Given the description of an element on the screen output the (x, y) to click on. 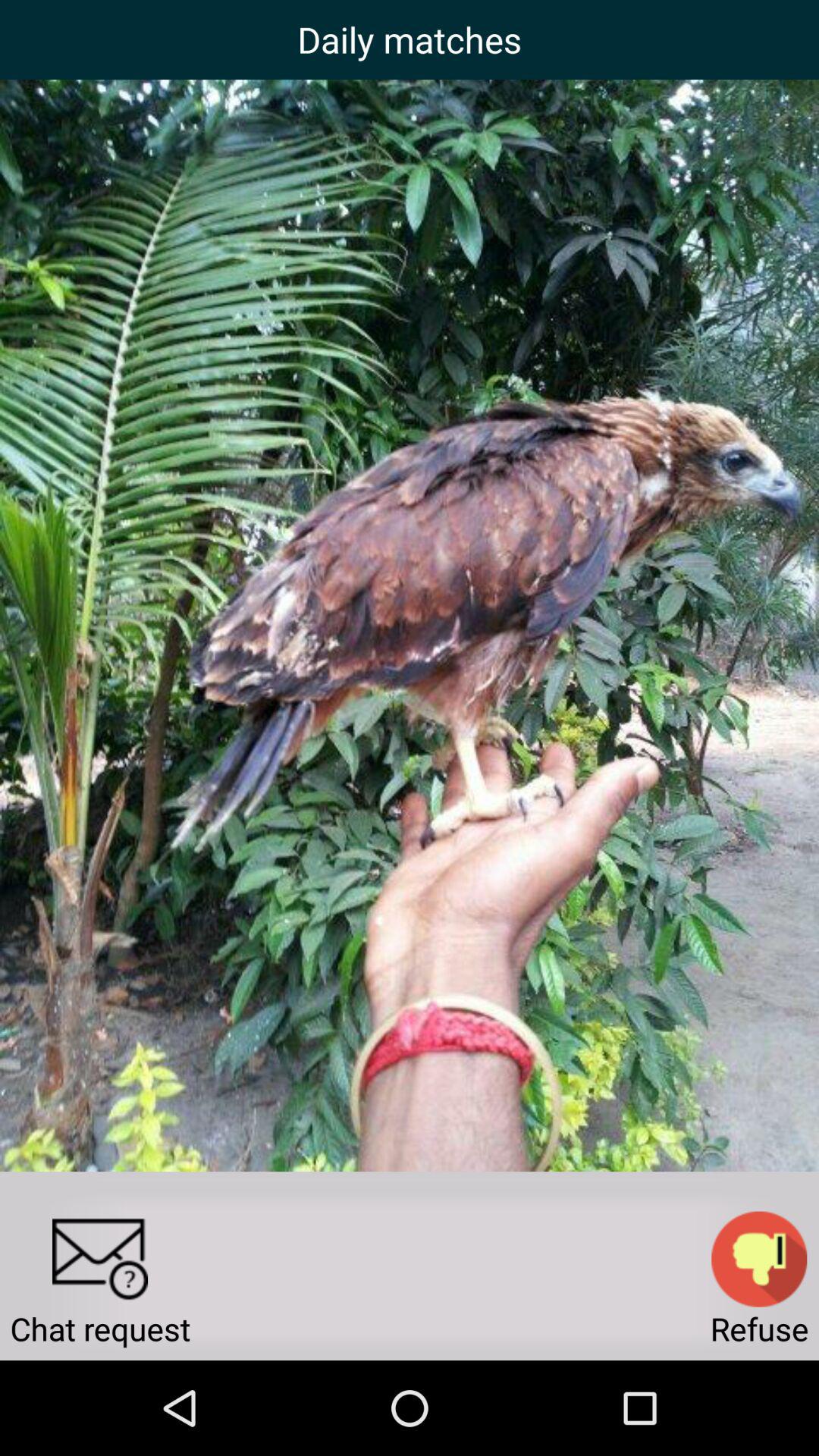
thumbs down (759, 1258)
